Given the description of an element on the screen output the (x, y) to click on. 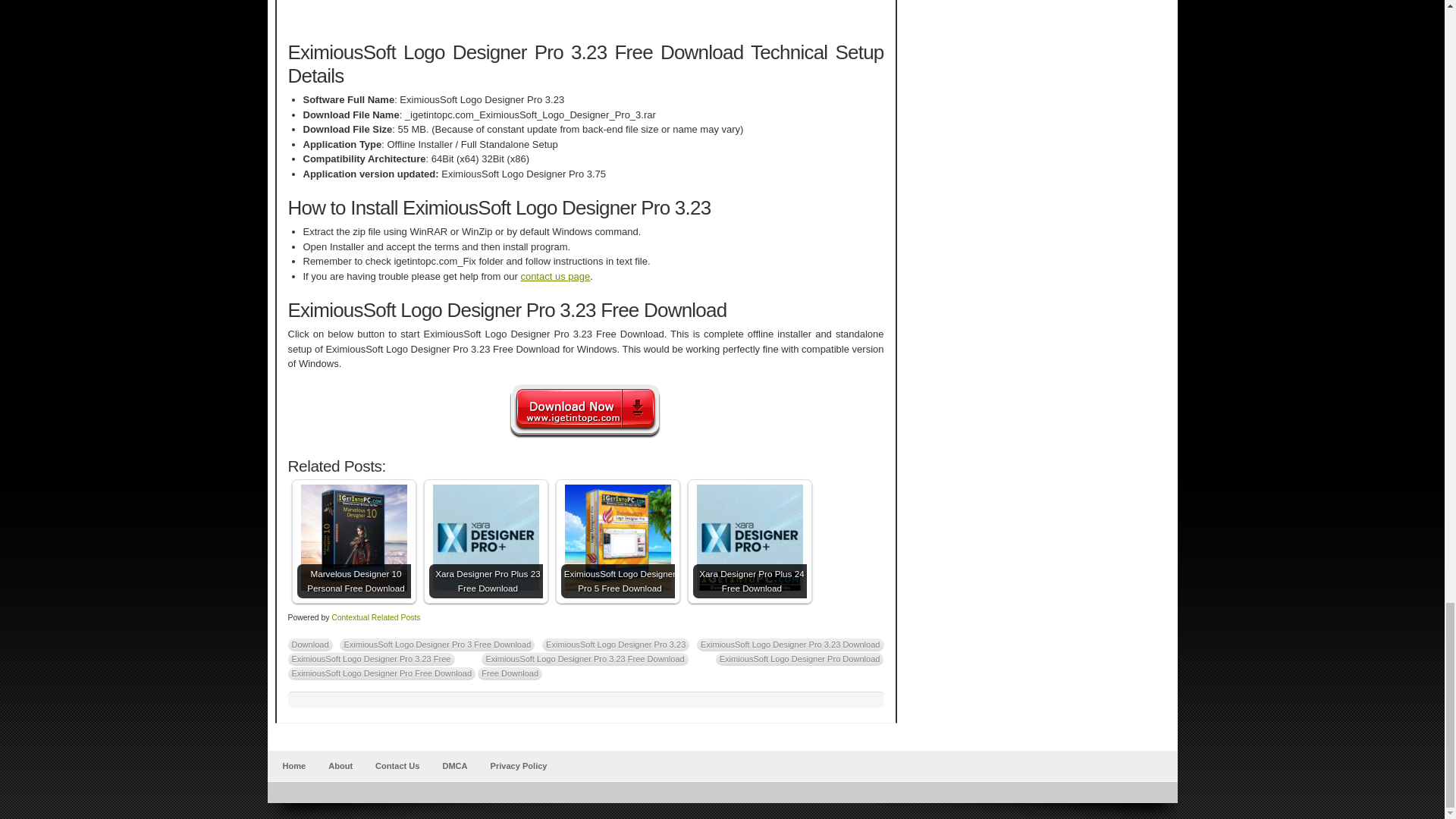
EximiousSoft Logo Designer Pro 5 Free Download (617, 541)
Contact Us (397, 765)
Download (310, 644)
Home (294, 765)
Xara Designer Pro Plus 24 Free Download (748, 537)
Xara Designer Pro Plus 23 Free Download (485, 537)
Contextual Related Posts (375, 617)
EximiousSoft Logo Designer Pro 3 Free Download (436, 644)
EximiousSoft Logo Designer Pro 3.23 Download (790, 644)
Marvelous Designer 10 Personal Free Download (353, 541)
